Given the description of an element on the screen output the (x, y) to click on. 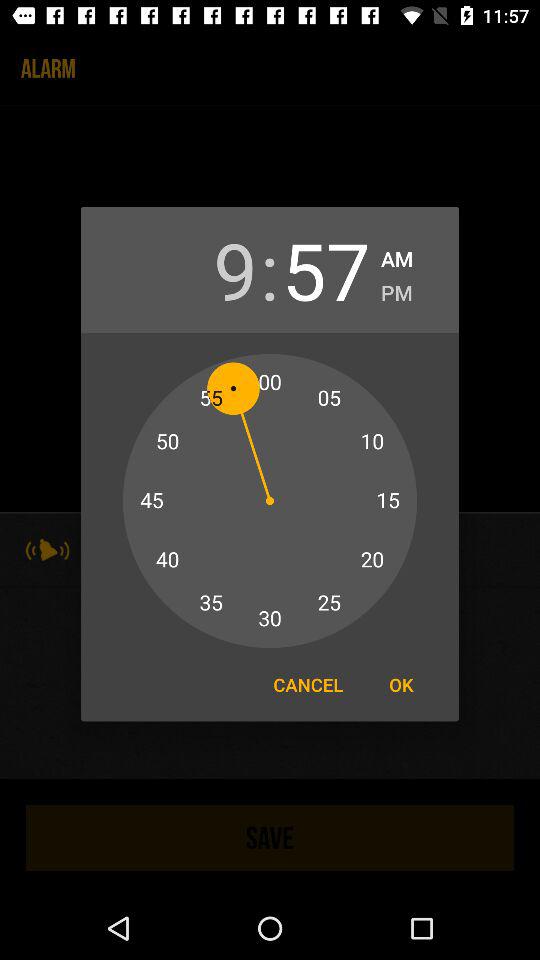
scroll to 9 icon (213, 269)
